Given the description of an element on the screen output the (x, y) to click on. 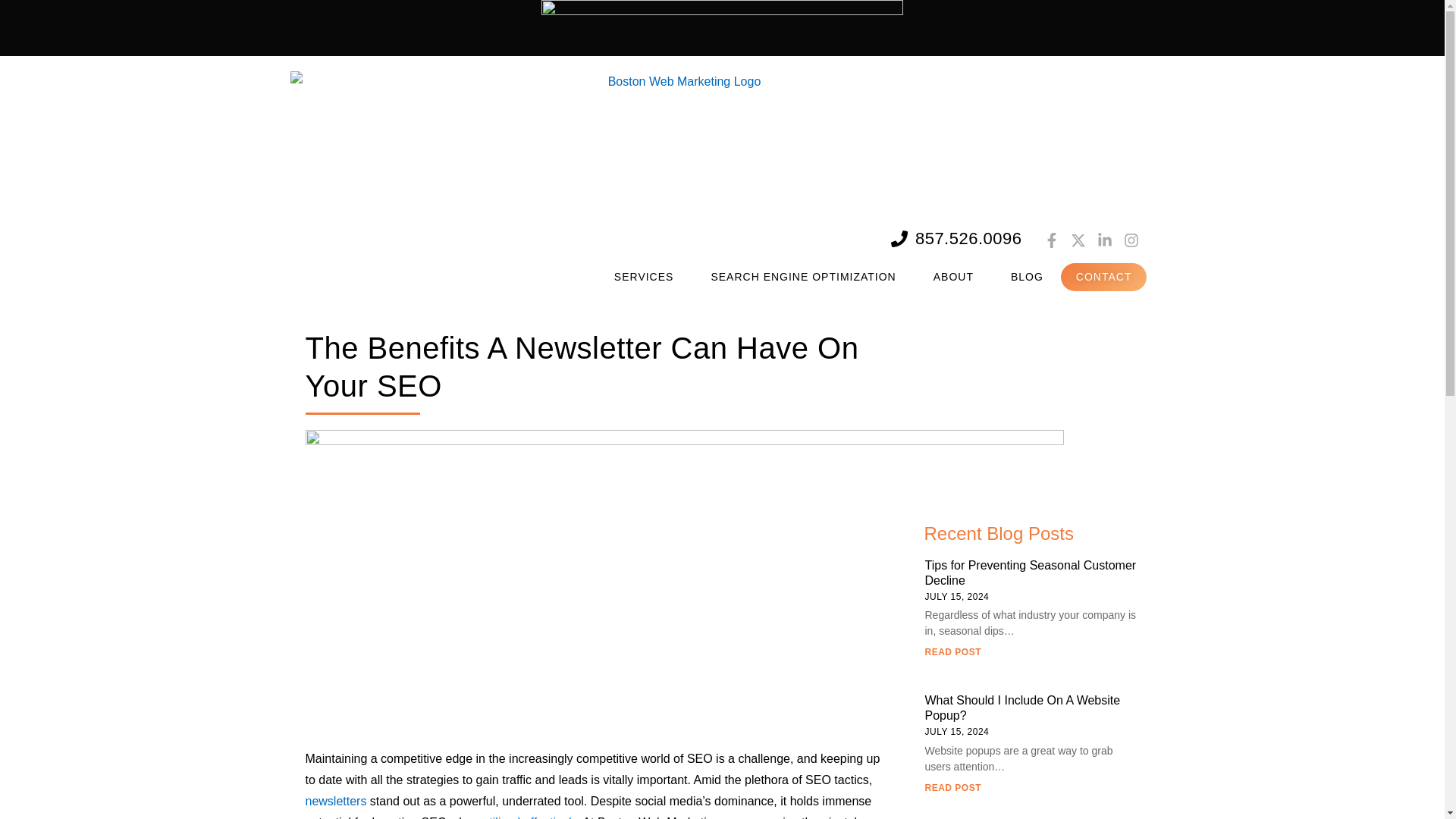
Linkedin-in (1104, 239)
ABOUT (956, 276)
857.526.0096 (956, 239)
Instagram (1131, 239)
SERVICES (648, 276)
Facebook-f (1051, 239)
SEARCH ENGINE OPTIMIZATION (806, 276)
